Given the description of an element on the screen output the (x, y) to click on. 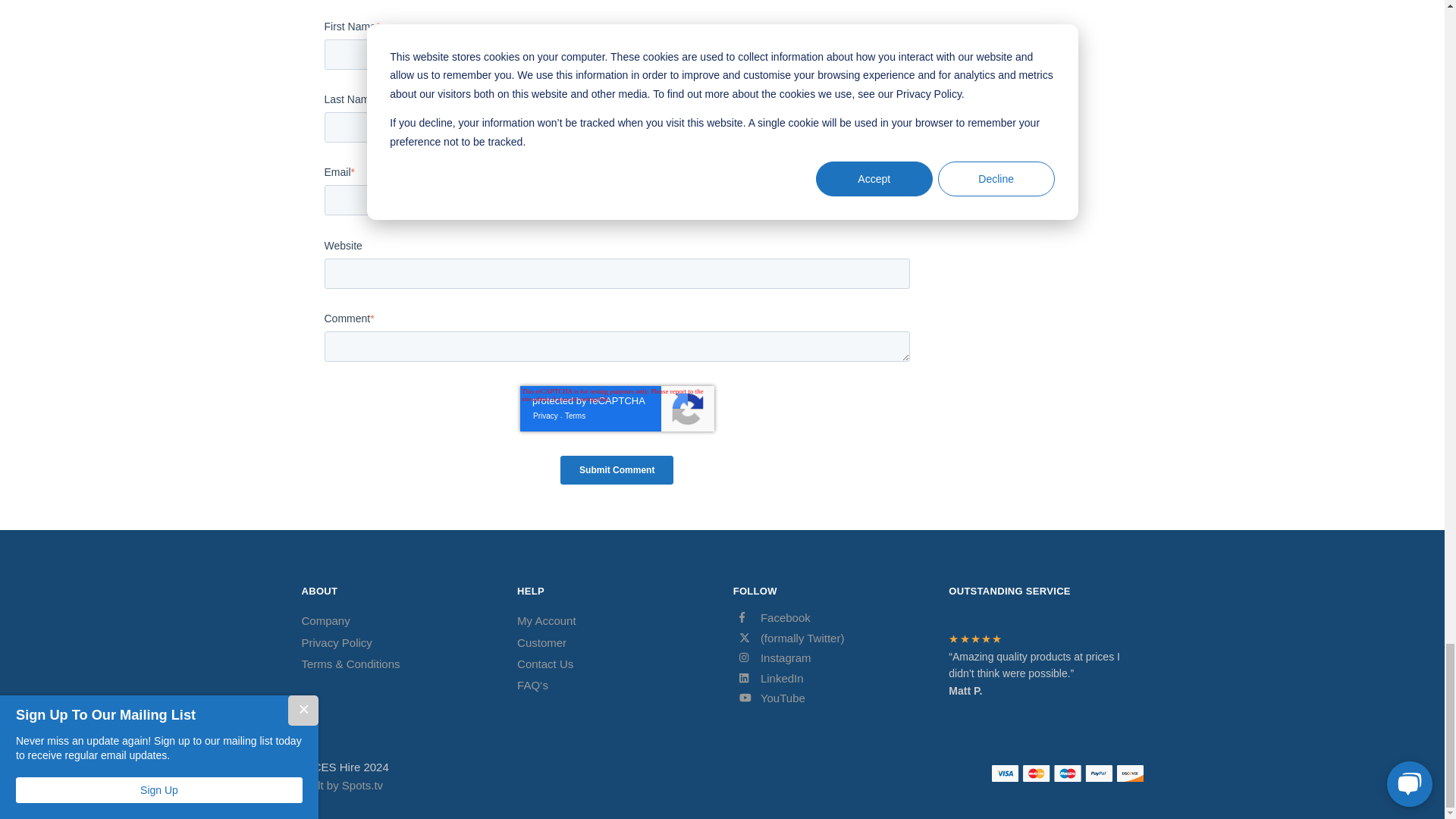
credit-cards (1066, 773)
Submit Comment (616, 469)
reCAPTCHA (616, 408)
